Given the description of an element on the screen output the (x, y) to click on. 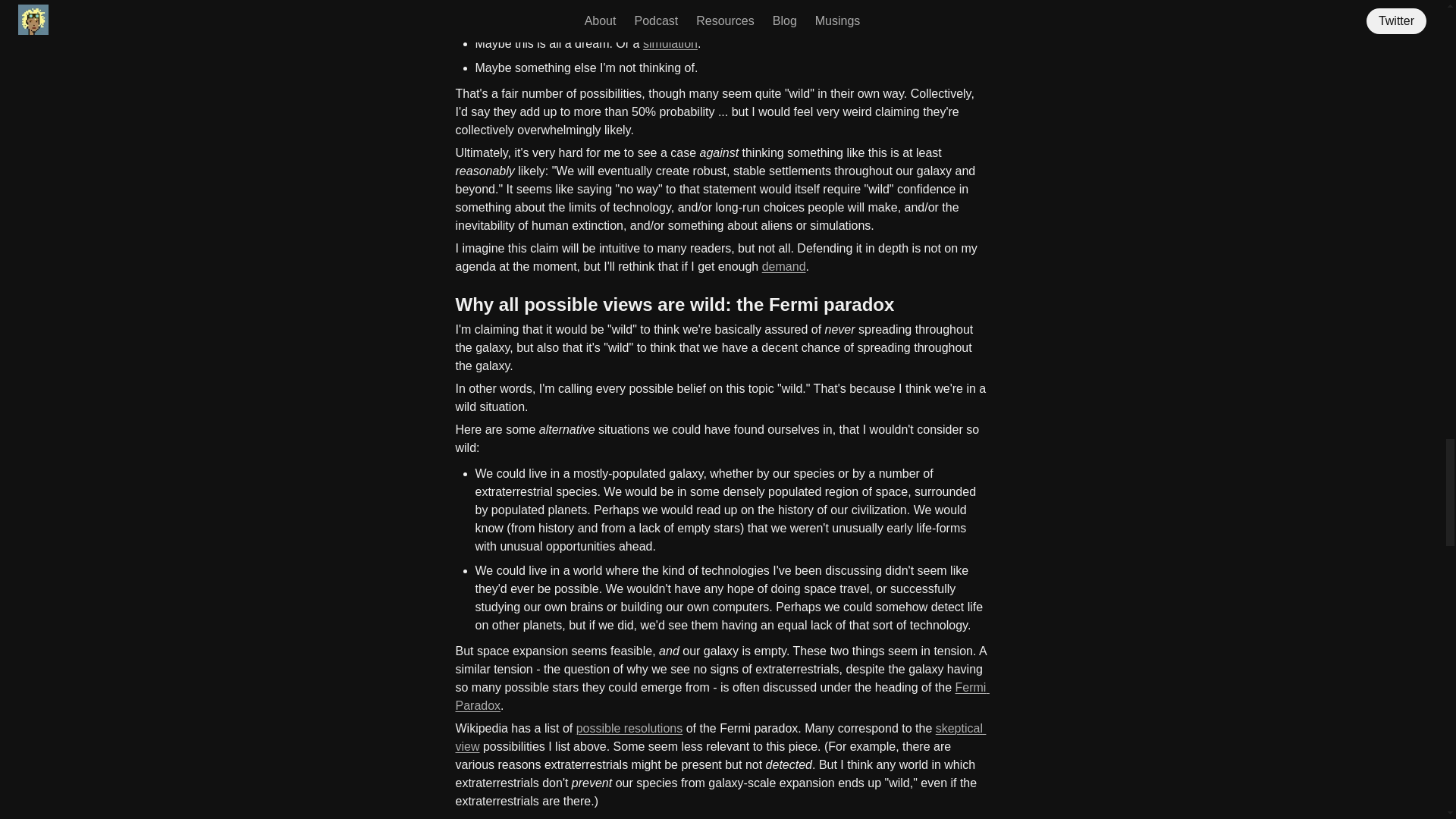
simulation (670, 42)
demand (783, 266)
skeptical view (719, 736)
possible resolutions (629, 727)
Fermi Paradox (721, 695)
